Given the description of an element on the screen output the (x, y) to click on. 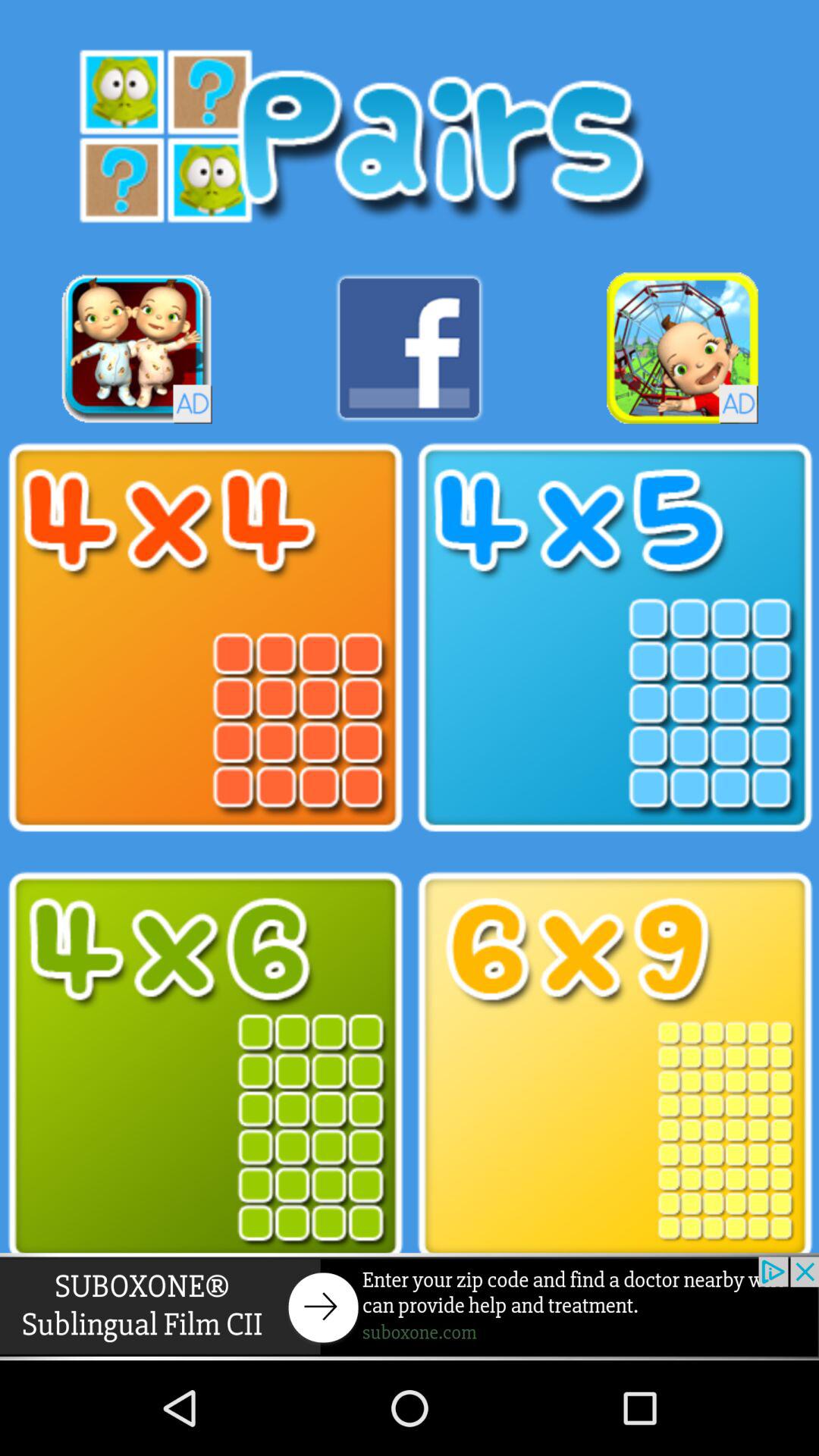
facebook button (409, 347)
